Given the description of an element on the screen output the (x, y) to click on. 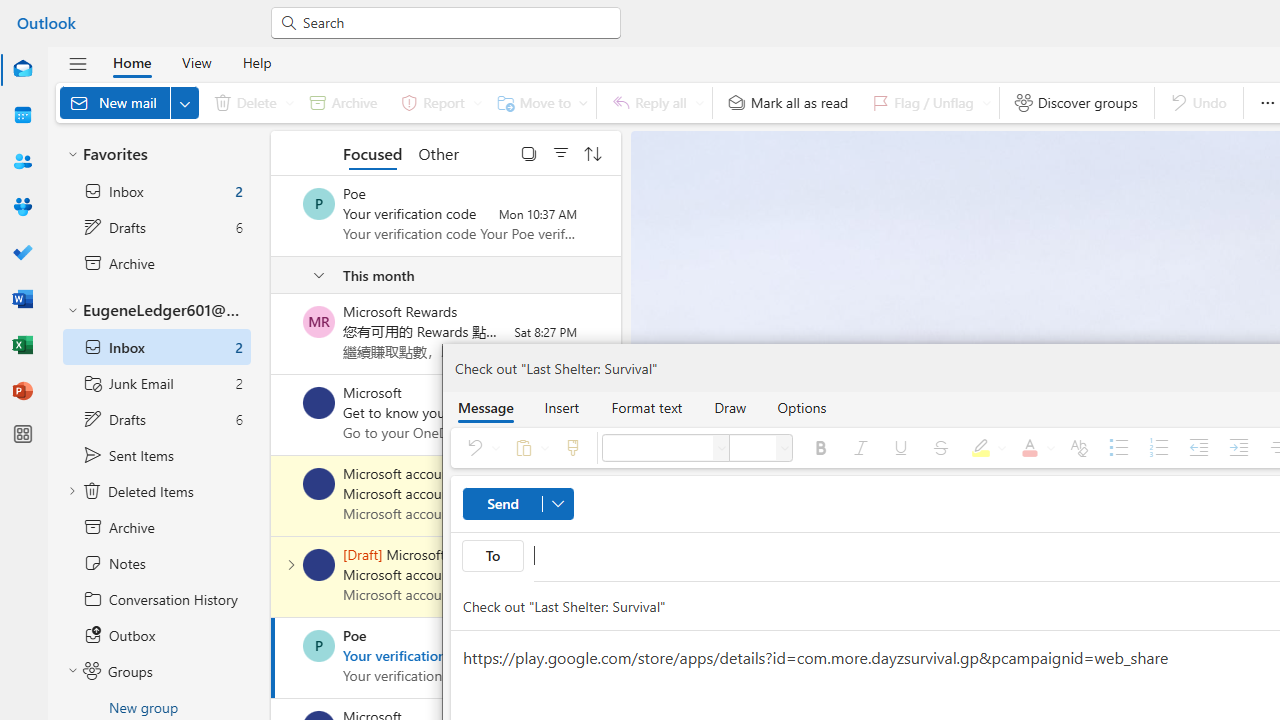
Report (437, 102)
Home (132, 61)
More send options (557, 503)
View (196, 61)
Delete (250, 102)
Mail (22, 69)
Word (22, 299)
Font (721, 448)
Underline (900, 447)
Expand to see delete options (289, 102)
Flag / Unflag (927, 102)
Groups (22, 206)
Sorted: By Date (593, 152)
